Given the description of an element on the screen output the (x, y) to click on. 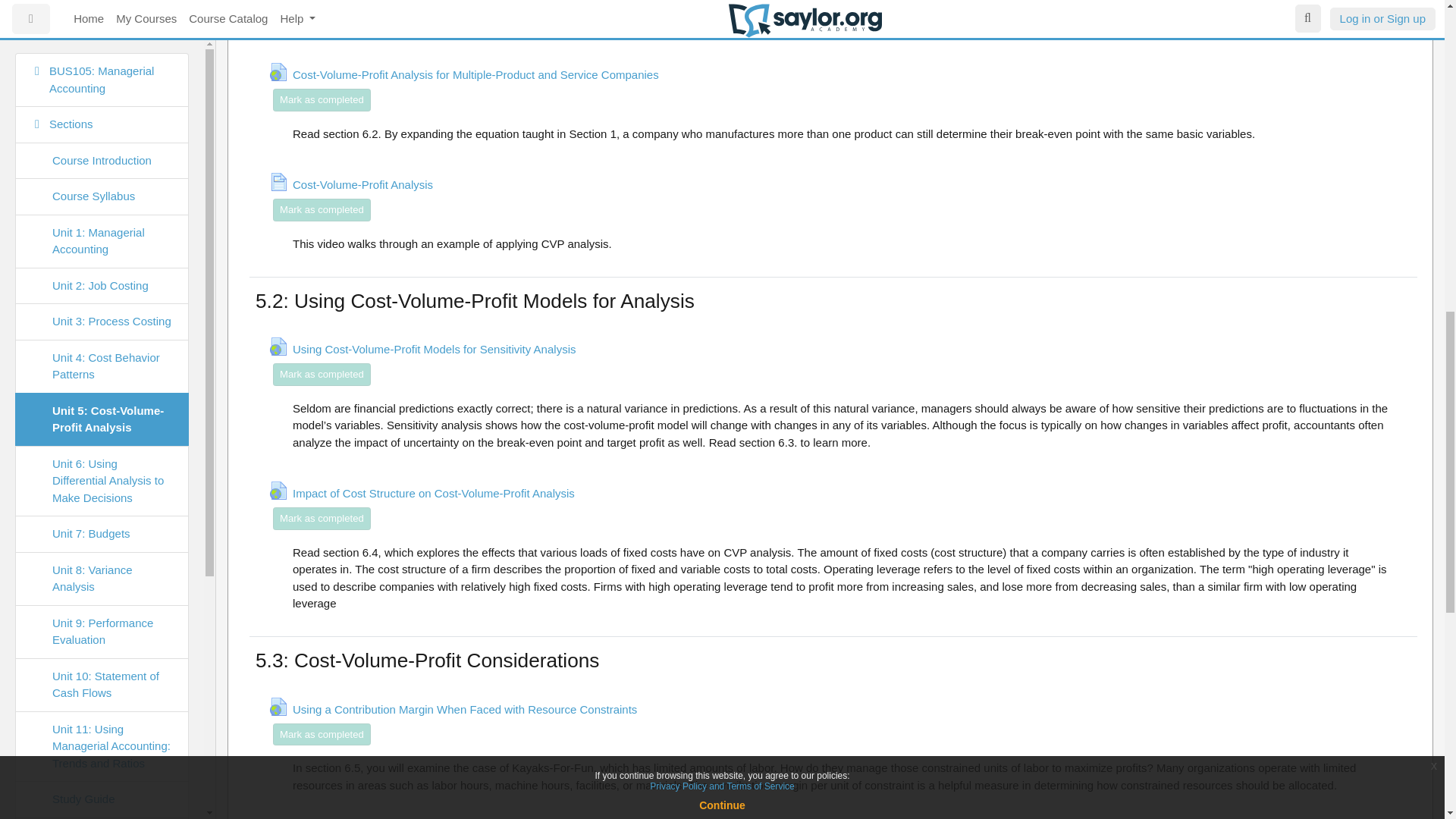
Course Feedback Survey (101, 26)
Certificate Final Exam (101, 69)
Activities (101, 177)
Saylor Direct Credit (101, 105)
Resources (101, 140)
